Given the description of an element on the screen output the (x, y) to click on. 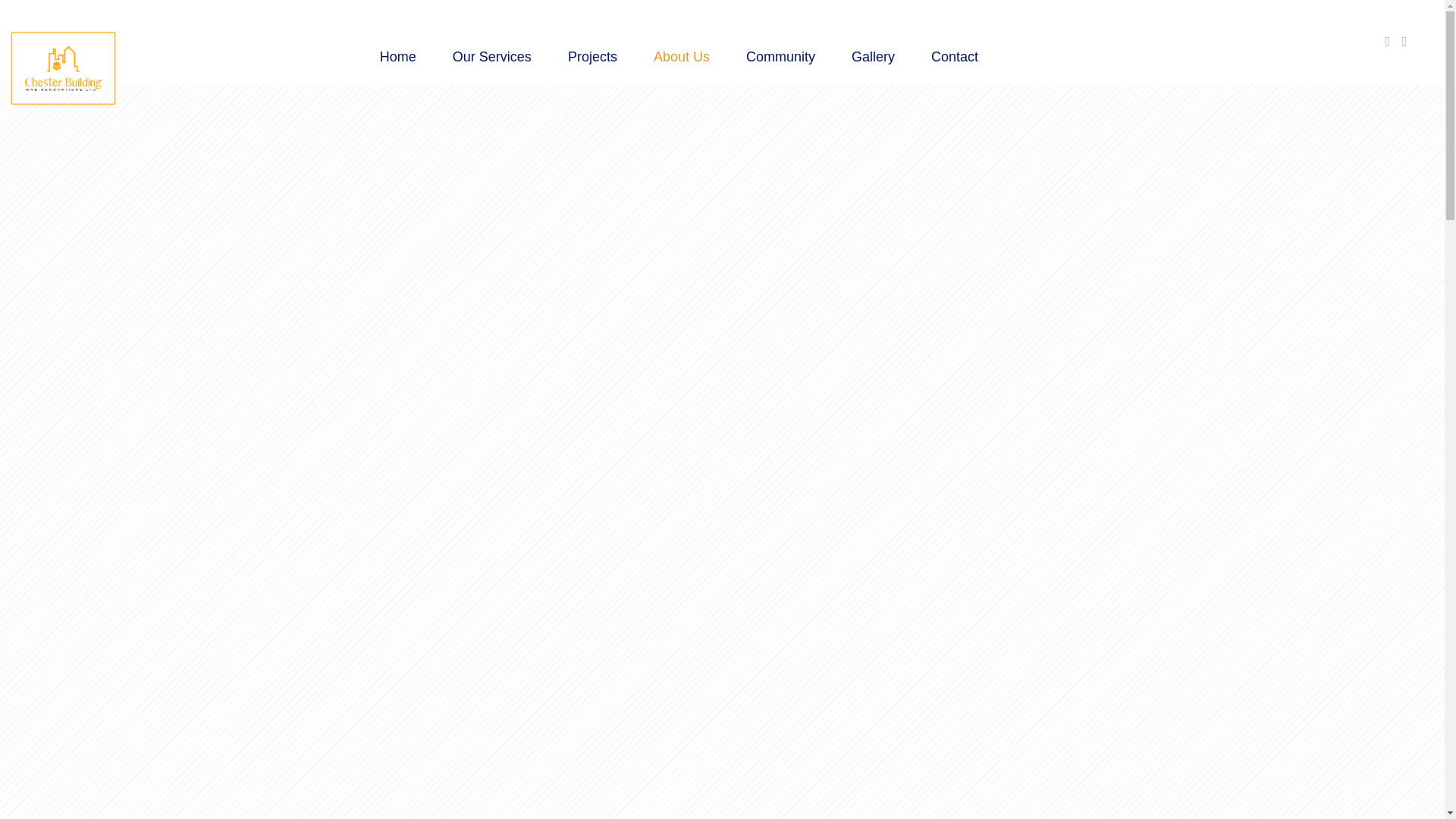
About Us (681, 57)
Community (780, 57)
Our Services (491, 57)
Projects (592, 57)
Contact (953, 57)
Gallery (872, 57)
Home (397, 57)
